Given the description of an element on the screen output the (x, y) to click on. 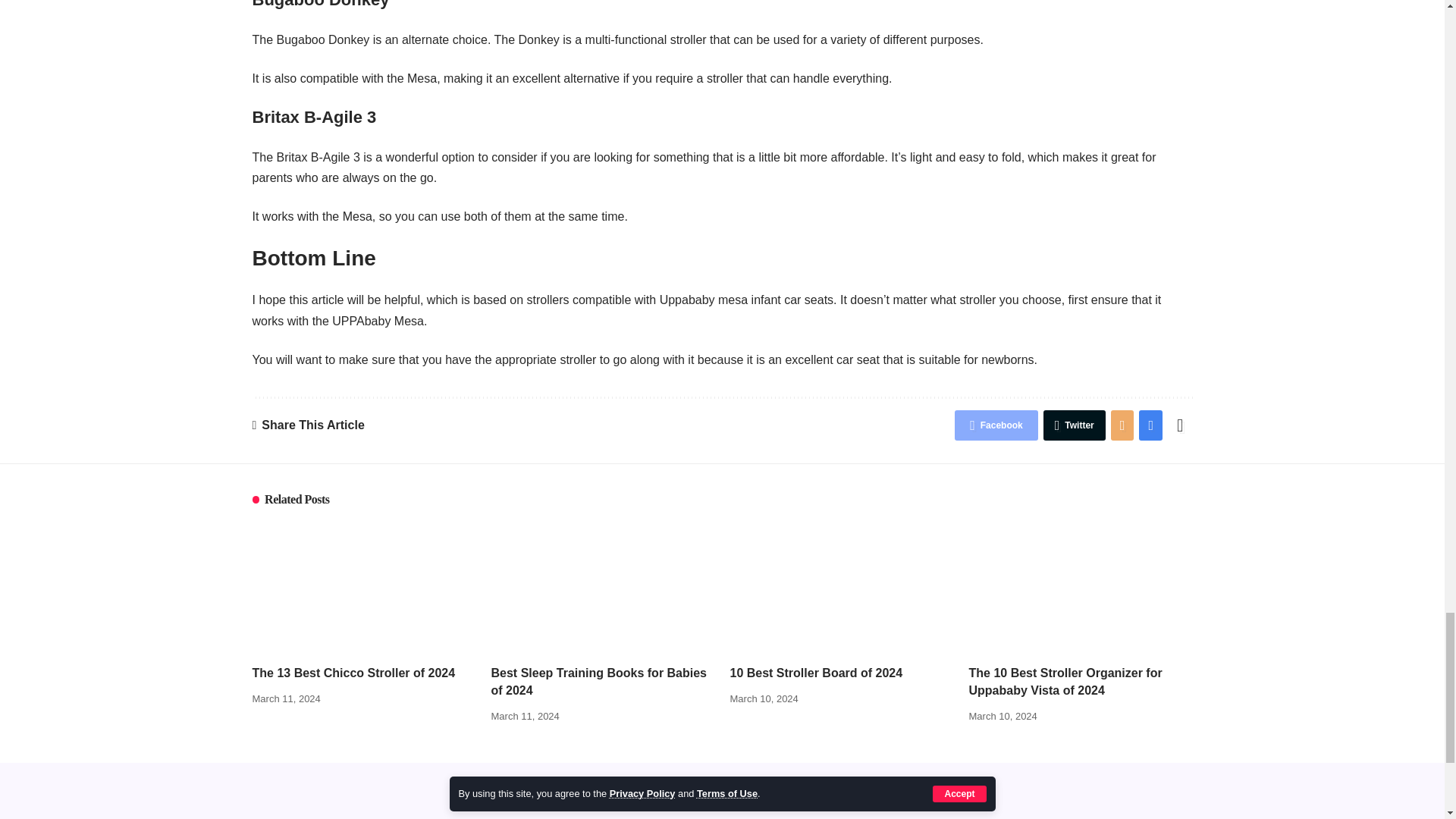
The 10 Best Stroller Organizer for Uppababy Vista of 2024 (1080, 587)
Best Sleep Training Books for Babies of 2024 (603, 587)
The 13 Best Chicco Stroller of 2024 (363, 587)
10 Best Stroller Board of 2024 (841, 587)
